Given the description of an element on the screen output the (x, y) to click on. 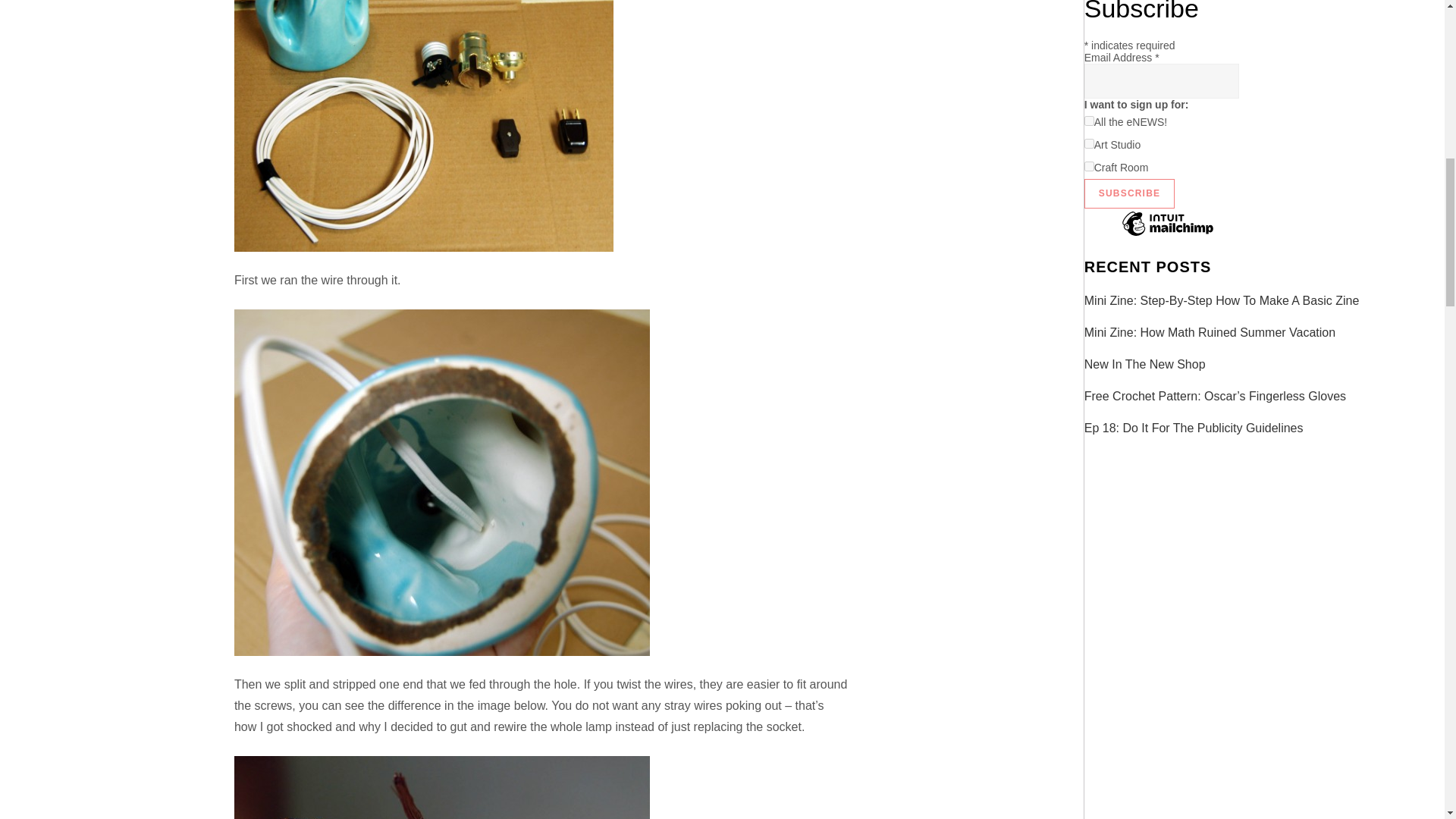
Subscribe (1129, 194)
Mailchimp - email marketing made easy and fun (1167, 234)
